Given the description of an element on the screen output the (x, y) to click on. 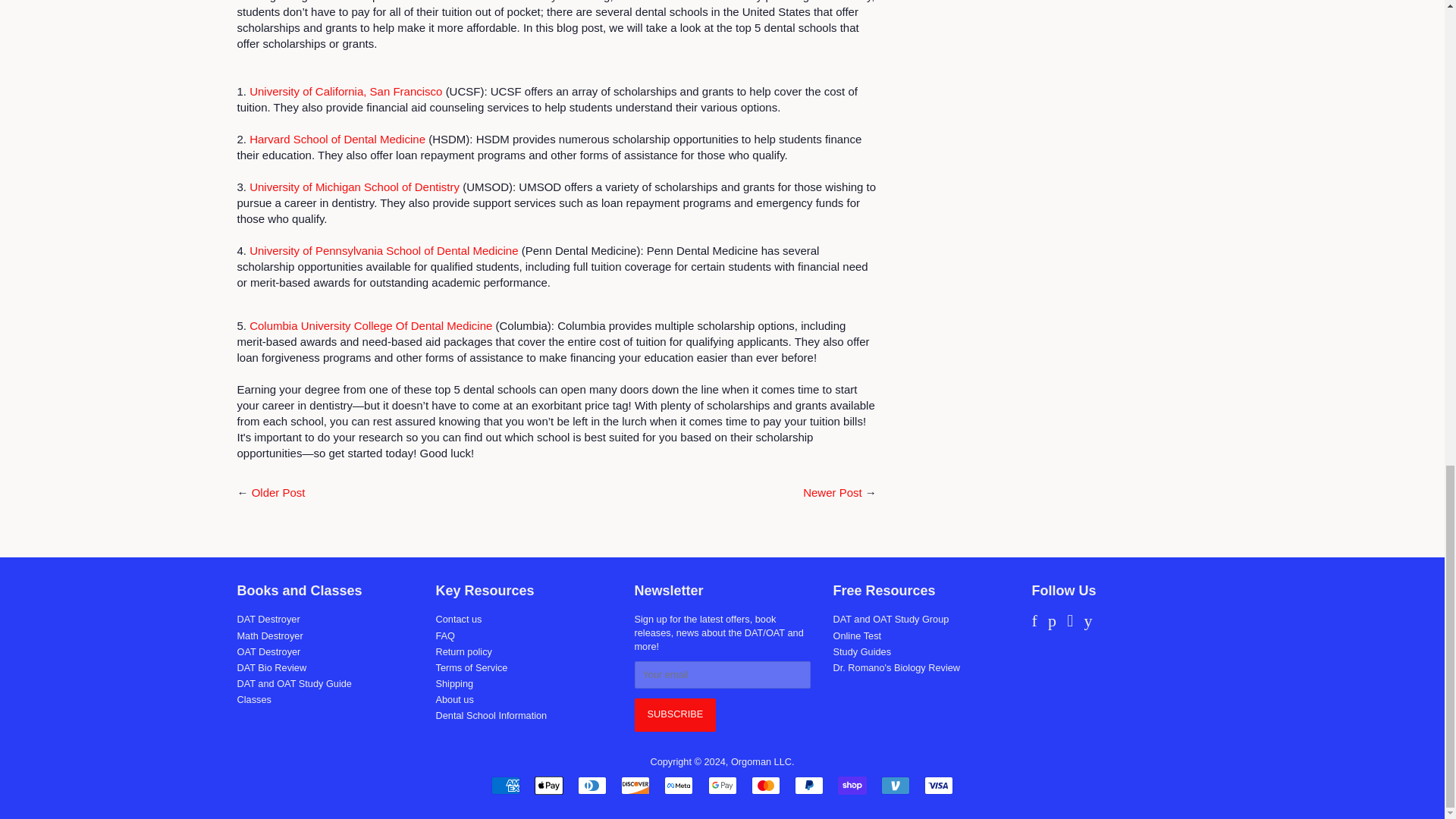
Shop Pay (852, 785)
PayPal (809, 785)
Mastercard (765, 785)
Subscribe (674, 715)
Google Pay (721, 785)
Venmo (895, 785)
Apple Pay (548, 785)
Discover (635, 785)
American Express (505, 785)
Diners Club (592, 785)
